Given the description of an element on the screen output the (x, y) to click on. 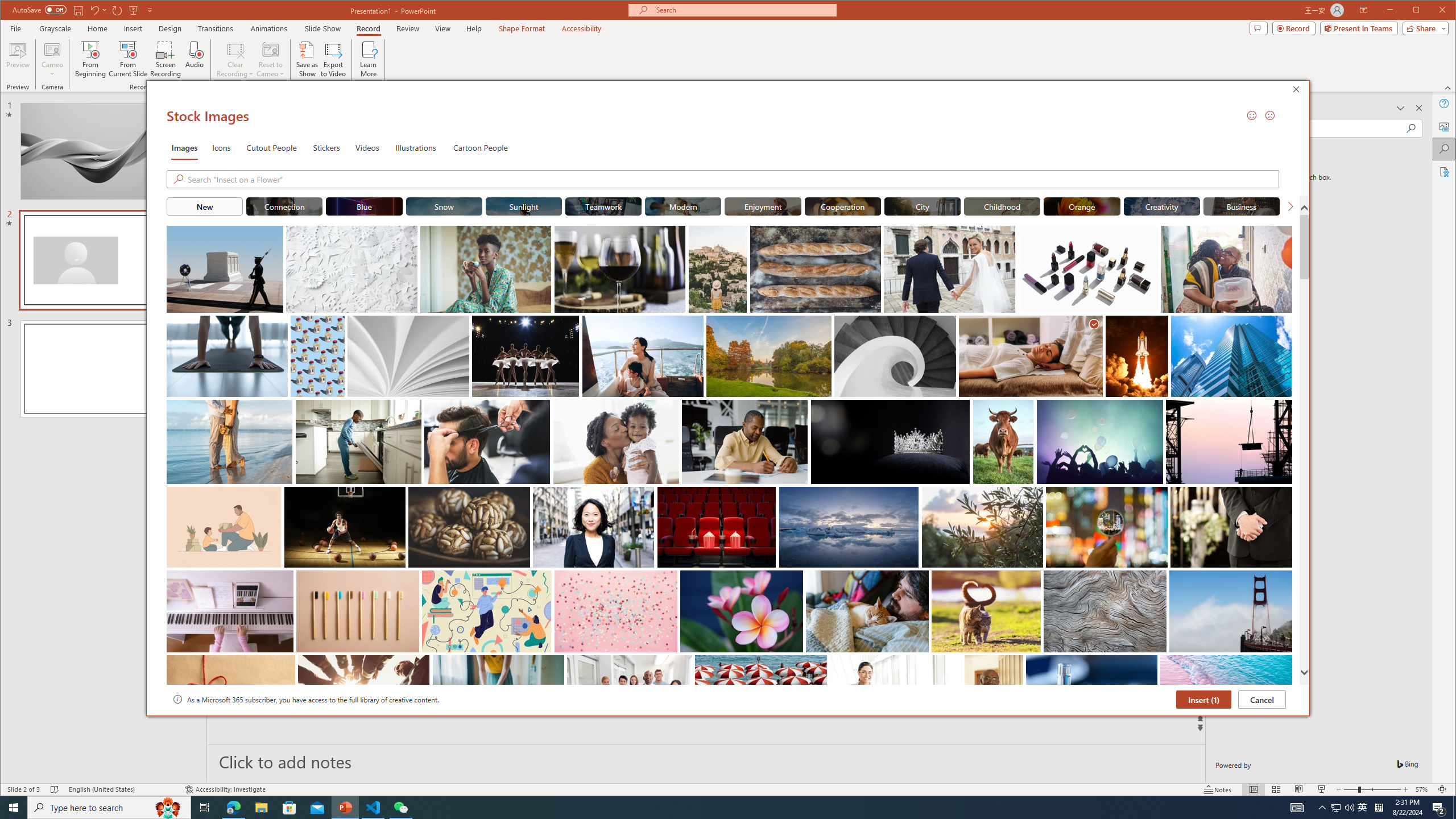
Thumbnail (1283, 663)
Send a Frown (1269, 115)
